Given the description of an element on the screen output the (x, y) to click on. 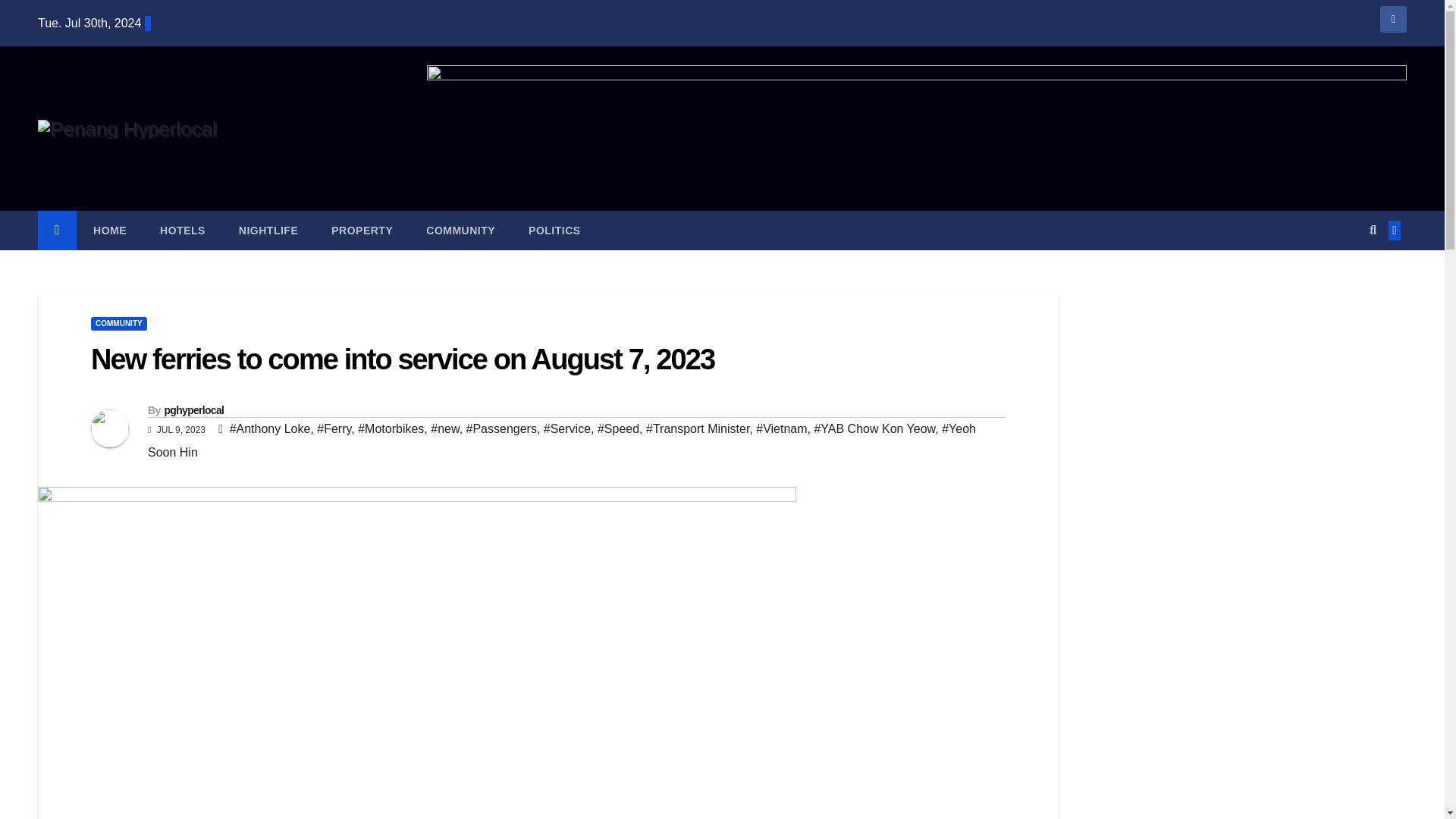
Politics (554, 230)
Property (361, 230)
HOTELS (182, 230)
HOME (109, 230)
pghyperlocal (193, 410)
COMMUNITY (118, 323)
Community (460, 230)
POLITICS (554, 230)
Nightlife (268, 230)
Hotels (182, 230)
NIGHTLIFE (268, 230)
COMMUNITY (460, 230)
PROPERTY (361, 230)
New ferries to come into service on August 7, 2023 (402, 359)
